Given the description of an element on the screen output the (x, y) to click on. 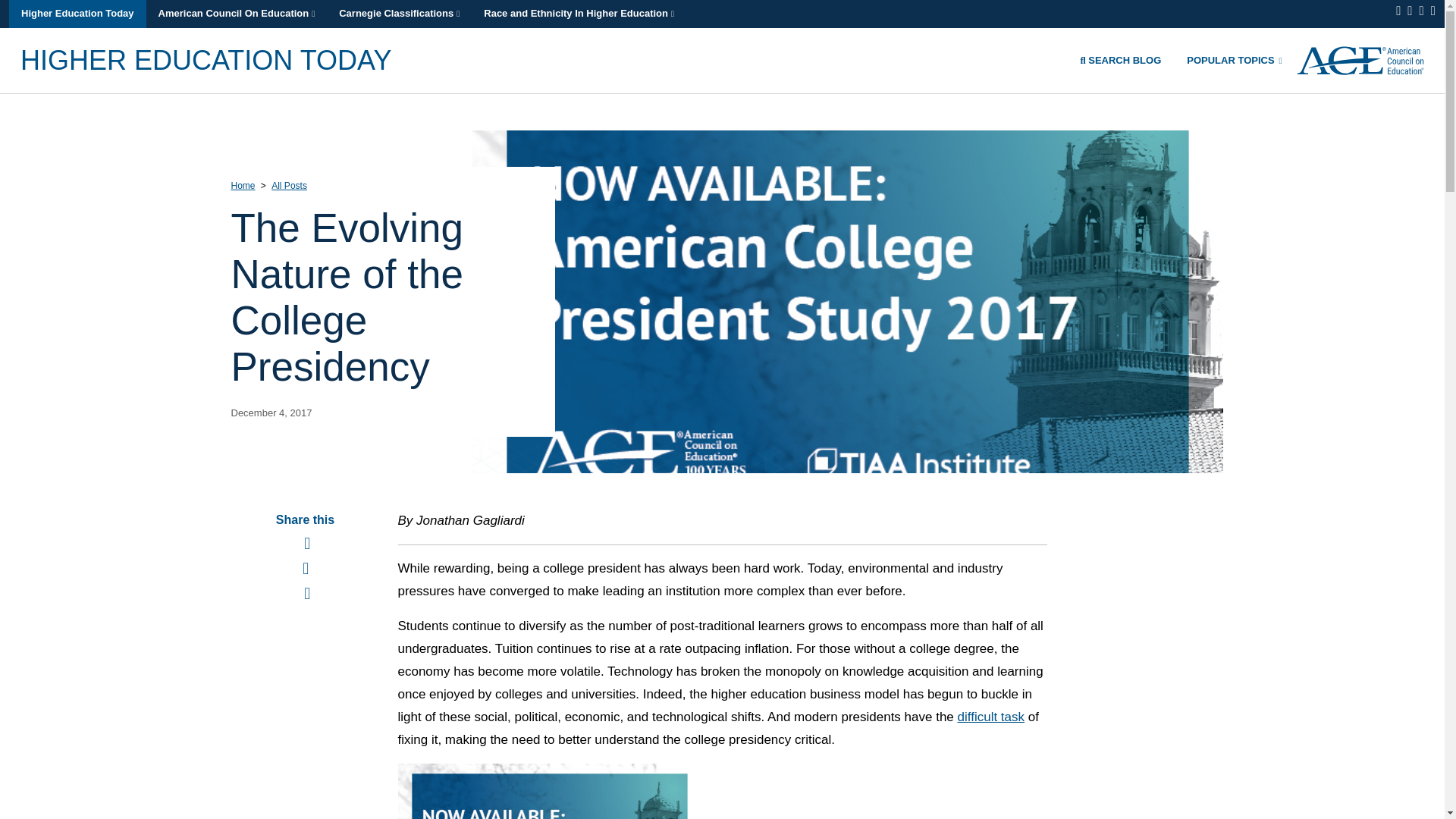
Carnegie Classifications (398, 13)
Race and Ethnicity In Higher Education (578, 13)
Home (242, 185)
POPULAR TOPICS (1233, 59)
SEARCH BLOG (1124, 59)
Popular Topics (1233, 59)
HIGHER EDUCATION TODAY (205, 59)
American Council On Education (237, 13)
Go to Higher Education Today. (242, 185)
difficult task (991, 716)
